Given the description of an element on the screen output the (x, y) to click on. 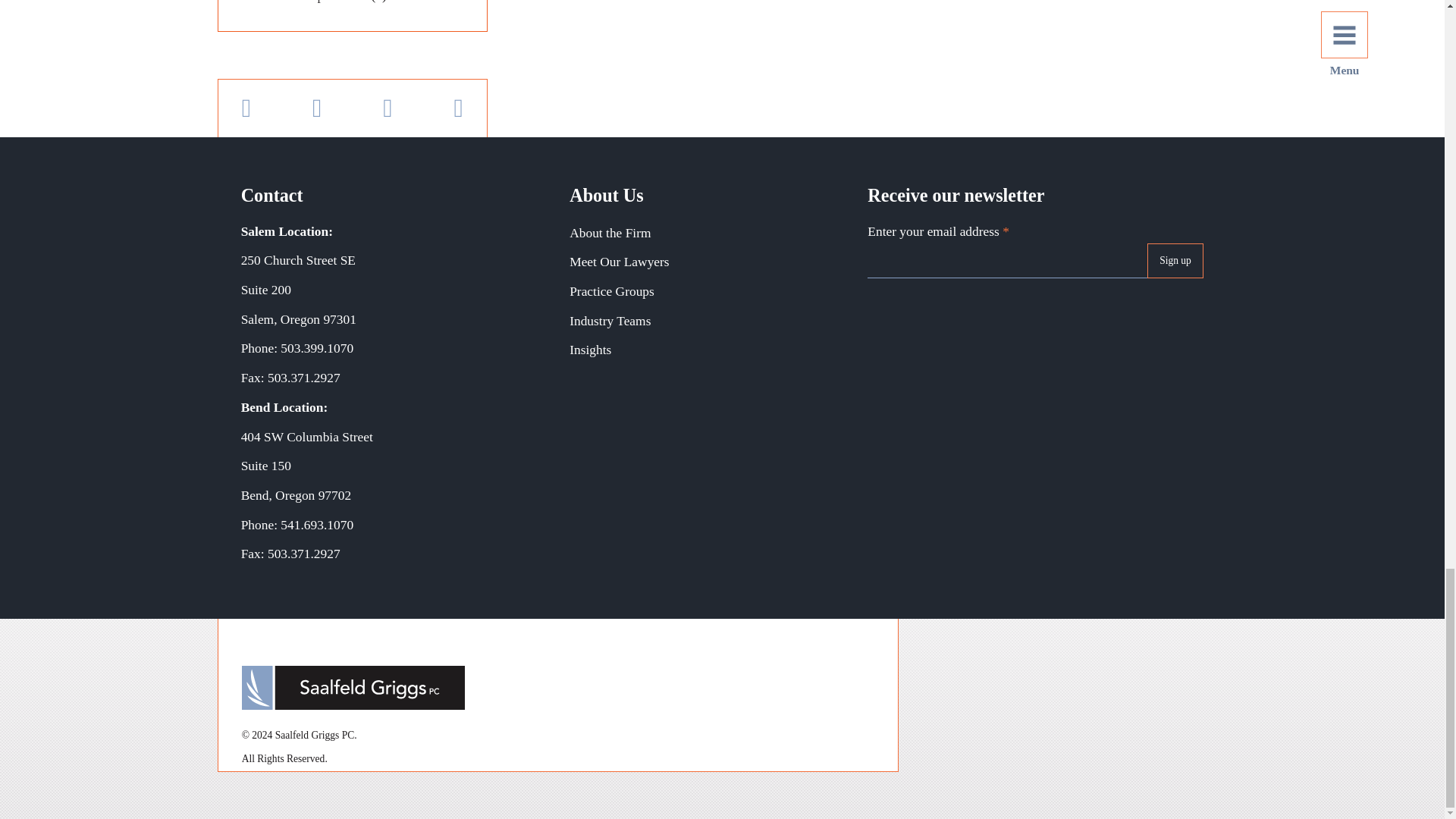
Sign up (1175, 260)
